Given the description of an element on the screen output the (x, y) to click on. 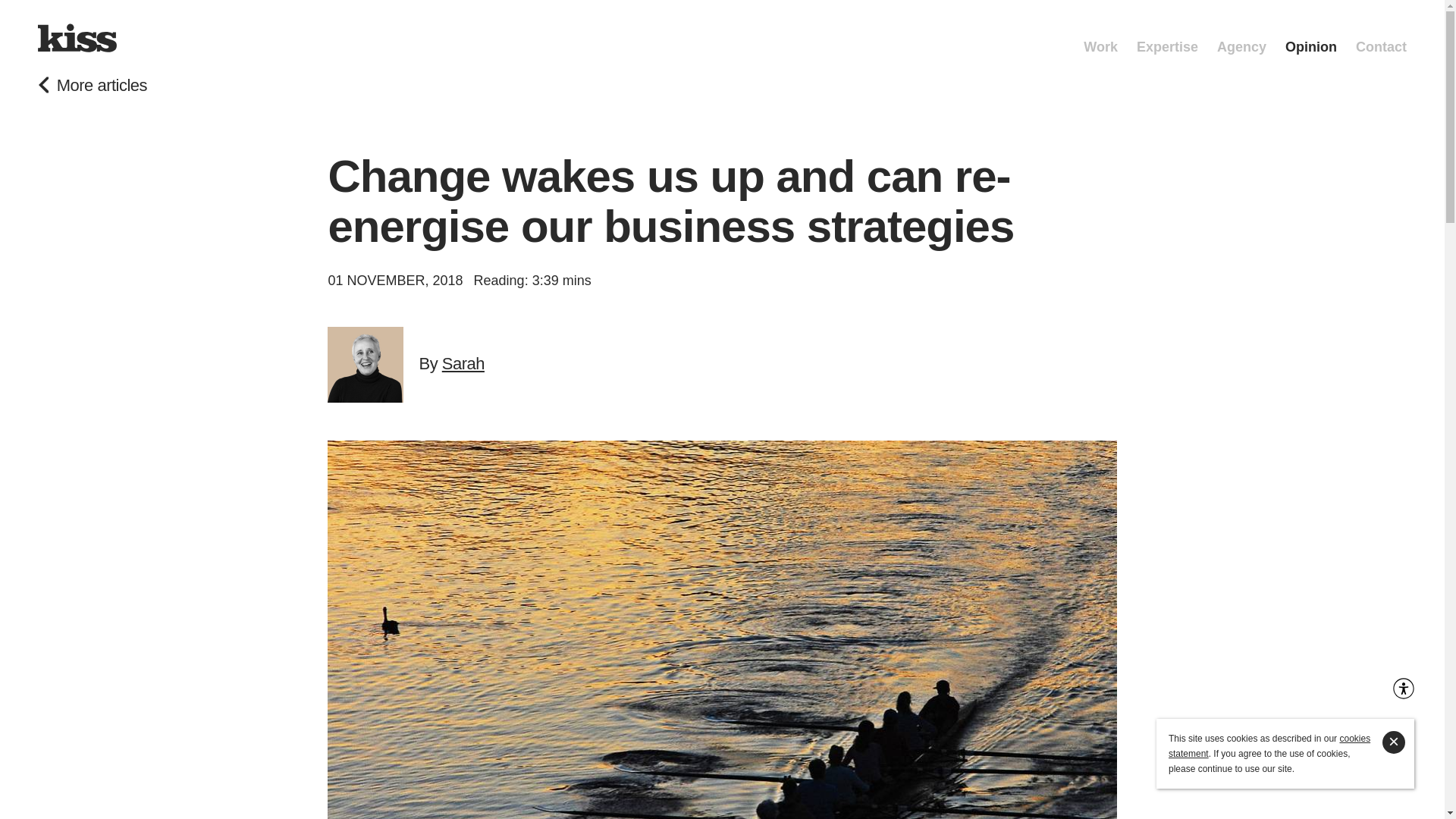
Contact (1380, 38)
KISS Communications (76, 37)
Sarah (463, 363)
More articles (92, 85)
Work (1100, 38)
Accessibility Menu (1403, 688)
Agency (1241, 38)
Expertise (1167, 38)
Opinion (1310, 38)
